Given the description of an element on the screen output the (x, y) to click on. 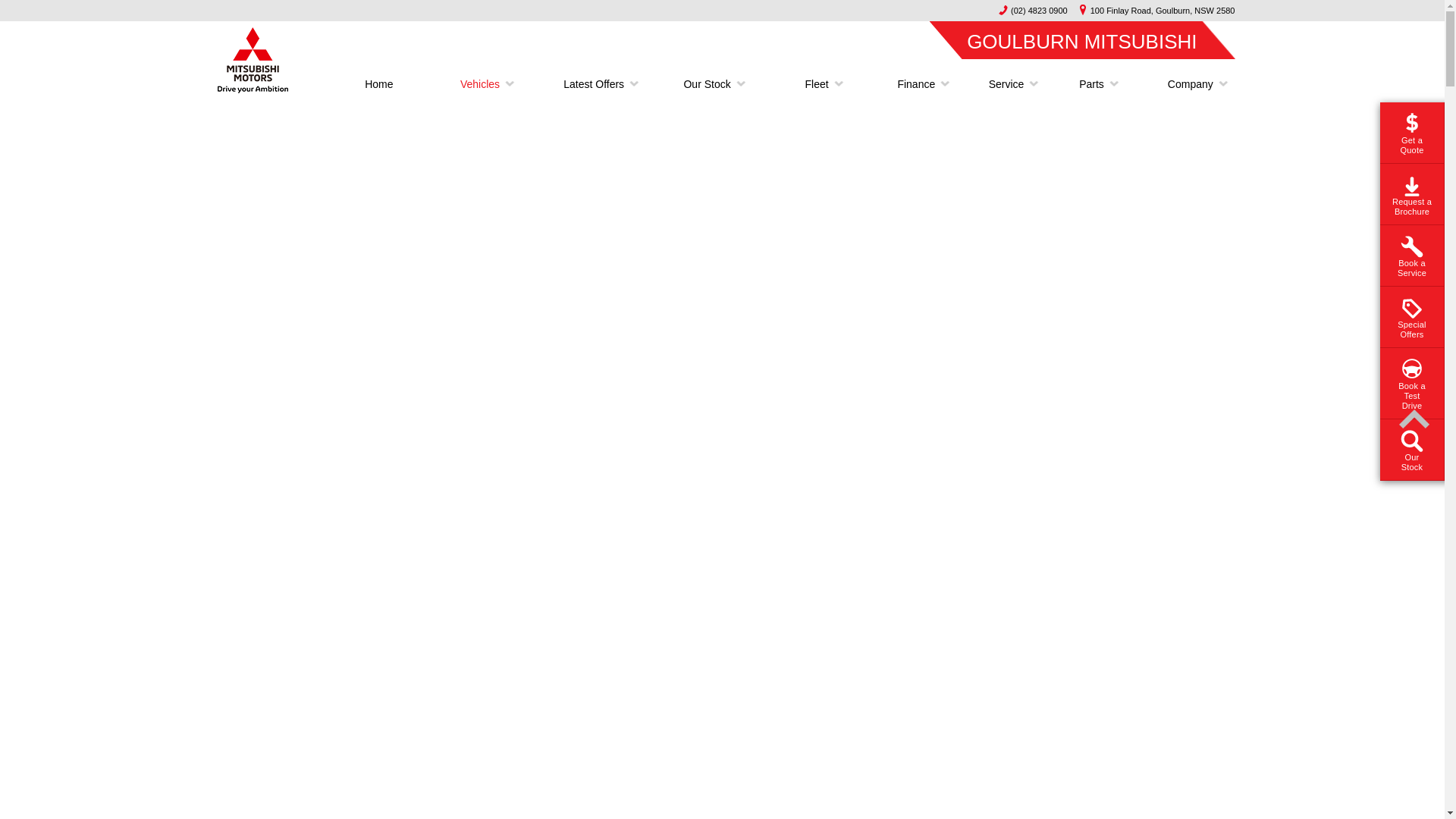
Vehicles Element type: text (479, 84)
Company Element type: text (1184, 84)
Home Element type: text (378, 84)
Fleet Element type: text (816, 84)
Finance Element type: text (915, 84)
Our Stock Element type: text (706, 84)
Parts Element type: text (1091, 84)
100 Finlay Road, Goulburn, NSW 2580 Element type: text (1153, 10)
Latest Offers Element type: text (593, 84)
Service Element type: text (1006, 84)
GOULBURN MITSUBISHI Element type: text (1081, 40)
